Given the description of an element on the screen output the (x, y) to click on. 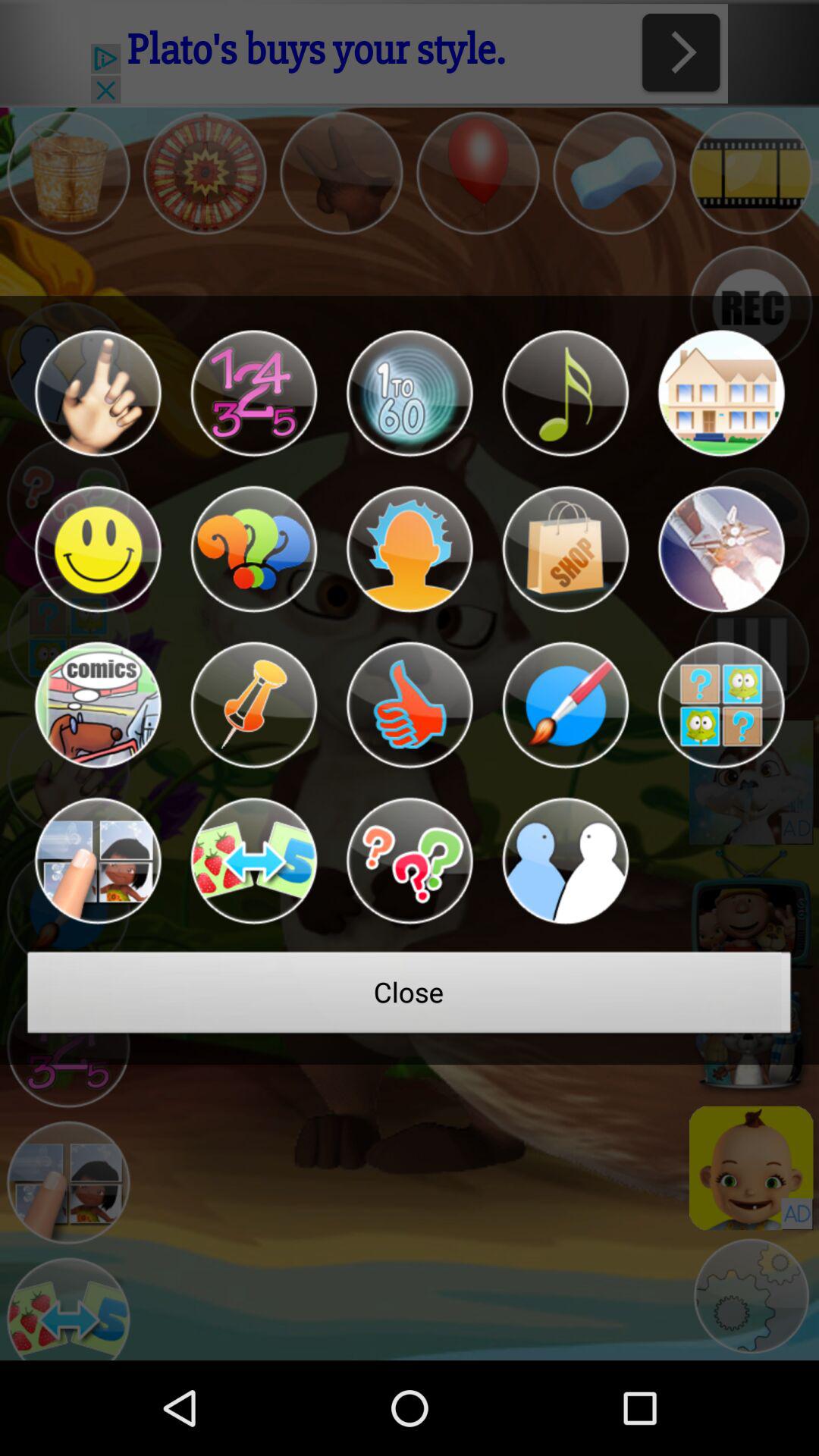
go to editing option (565, 705)
